Given the description of an element on the screen output the (x, y) to click on. 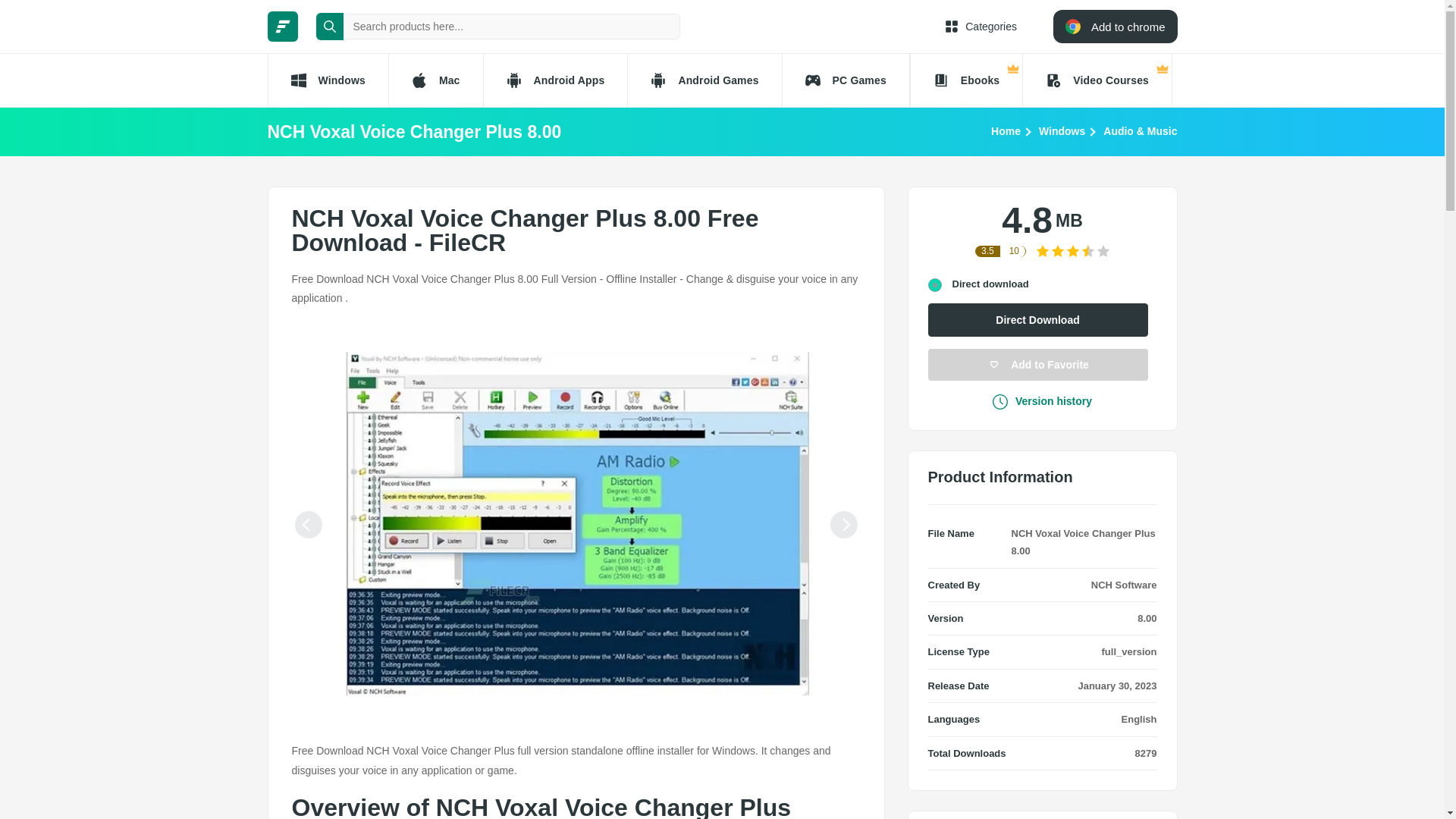
Android Games (703, 80)
Version history (1042, 401)
Direct Download (1038, 319)
Add to Favorite (1038, 364)
Android Apps (555, 80)
Categories (980, 26)
Add to chrome (1114, 26)
Windows (1061, 131)
Home (1005, 131)
Mac (435, 80)
NCH Software (1123, 584)
Windows (326, 80)
PC Games (845, 80)
